Given the description of an element on the screen output the (x, y) to click on. 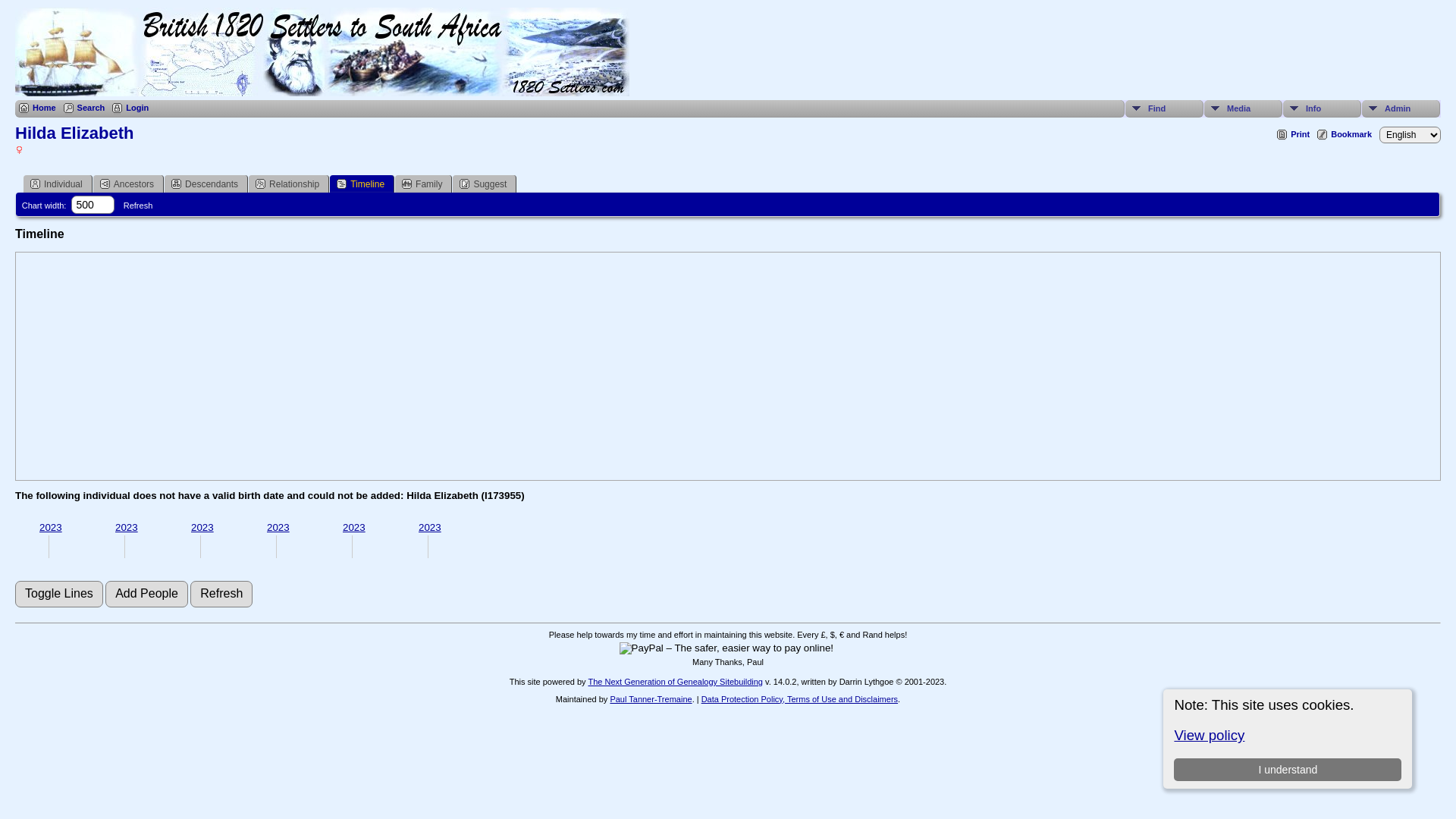
Refresh Element type: text (138, 205)
Bookmark Element type: text (1344, 134)
Family Element type: text (423, 183)
Admin Element type: text (1400, 108)
Data Protection Policy, Terms of Use and Disclaimers Element type: text (799, 698)
Toggle Lines Element type: text (59, 593)
2023 Element type: text (277, 527)
View policy Element type: text (1208, 735)
Relationship Element type: text (288, 183)
2023 Element type: text (353, 527)
The Next Generation of Genealogy Sitebuilding Element type: text (674, 681)
Login Element type: text (130, 108)
Search Element type: text (84, 108)
Print Element type: text (1293, 134)
2023 Element type: text (429, 527)
2023 Element type: text (202, 527)
Home Element type: text (37, 108)
Refresh Element type: text (221, 593)
Timeline Element type: text (361, 183)
Ancestors Element type: text (128, 183)
I understand Element type: text (1287, 769)
Suggest Element type: text (484, 183)
Info Element type: text (1322, 108)
Paul Tanner-Tremaine Element type: text (650, 698)
Add People Element type: text (146, 593)
Descendants Element type: text (205, 183)
2023 Element type: text (126, 527)
Media Element type: text (1243, 108)
Find Element type: text (1164, 108)
Individual Element type: text (57, 183)
2023 Element type: text (50, 527)
